Given the description of an element on the screen output the (x, y) to click on. 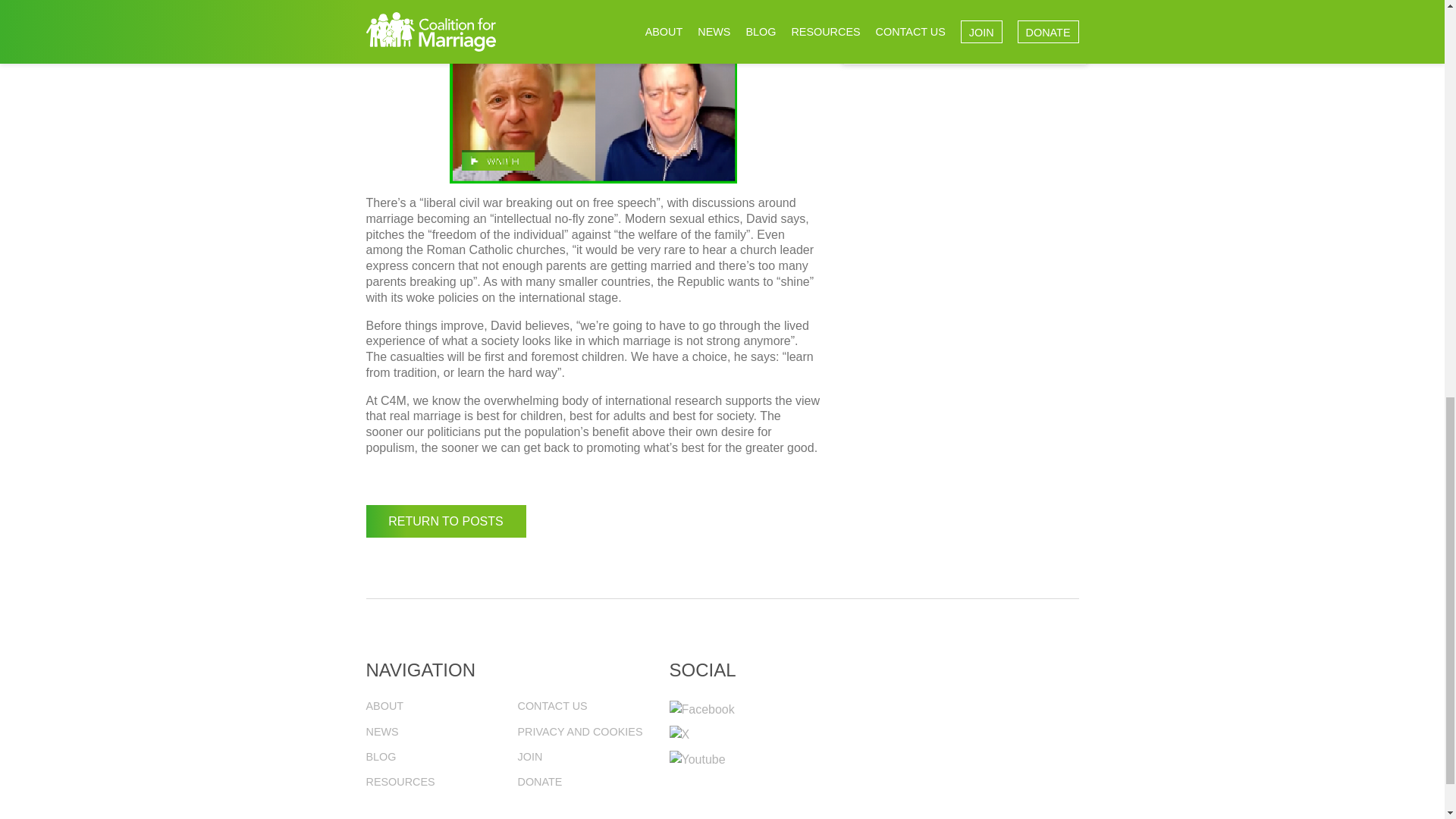
RETURN TO POSTS (445, 521)
Read Post (947, 32)
